Given the description of an element on the screen output the (x, y) to click on. 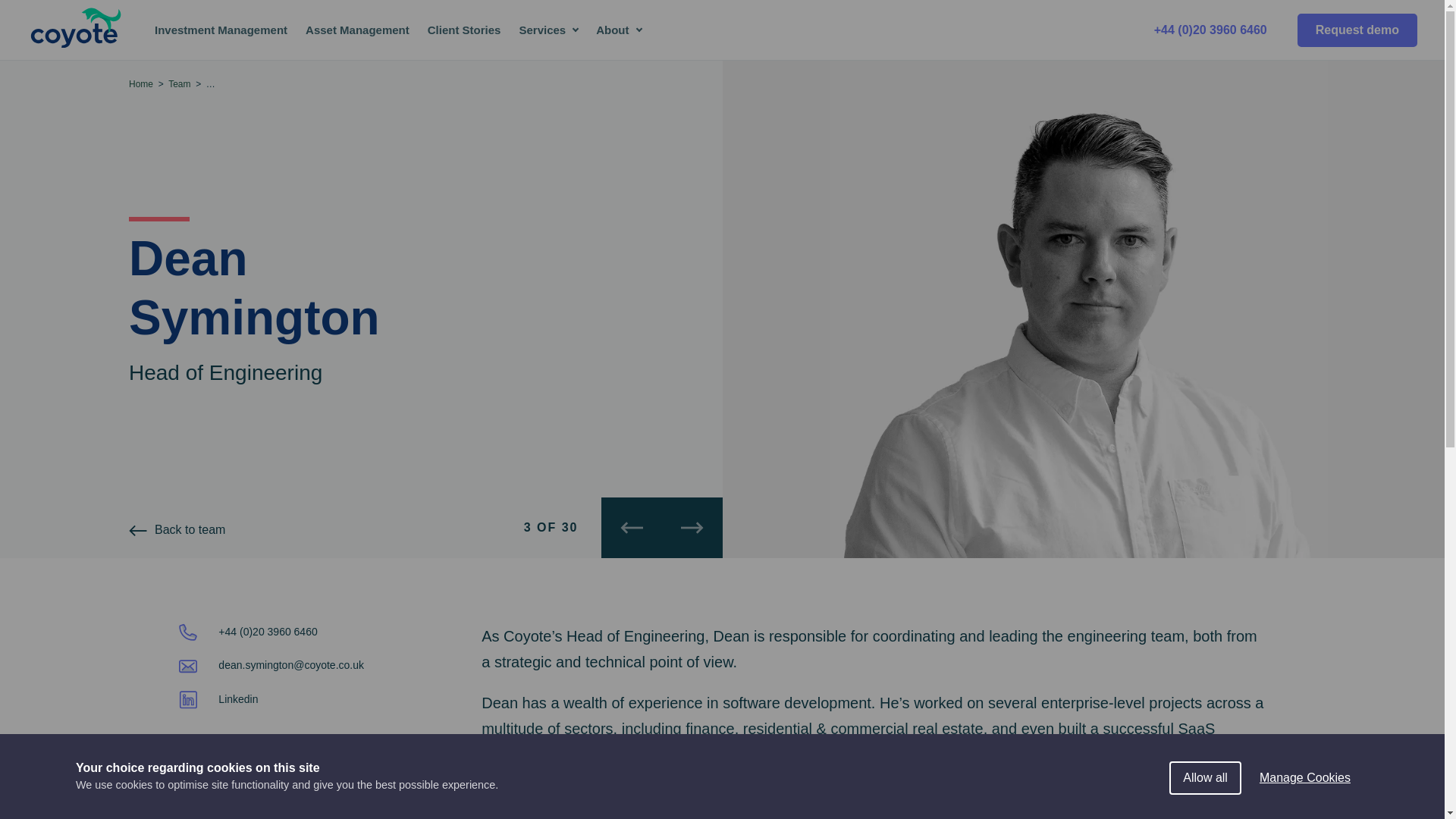
Manage Cookies (1304, 806)
Services (547, 30)
Investment Management (221, 30)
Asset Management (358, 30)
About (617, 30)
Request demo (1356, 29)
Client Stories (465, 30)
Linkedin (218, 698)
Home (140, 83)
Team (179, 83)
Allow all (1205, 811)
Back to team (177, 530)
